Given the description of an element on the screen output the (x, y) to click on. 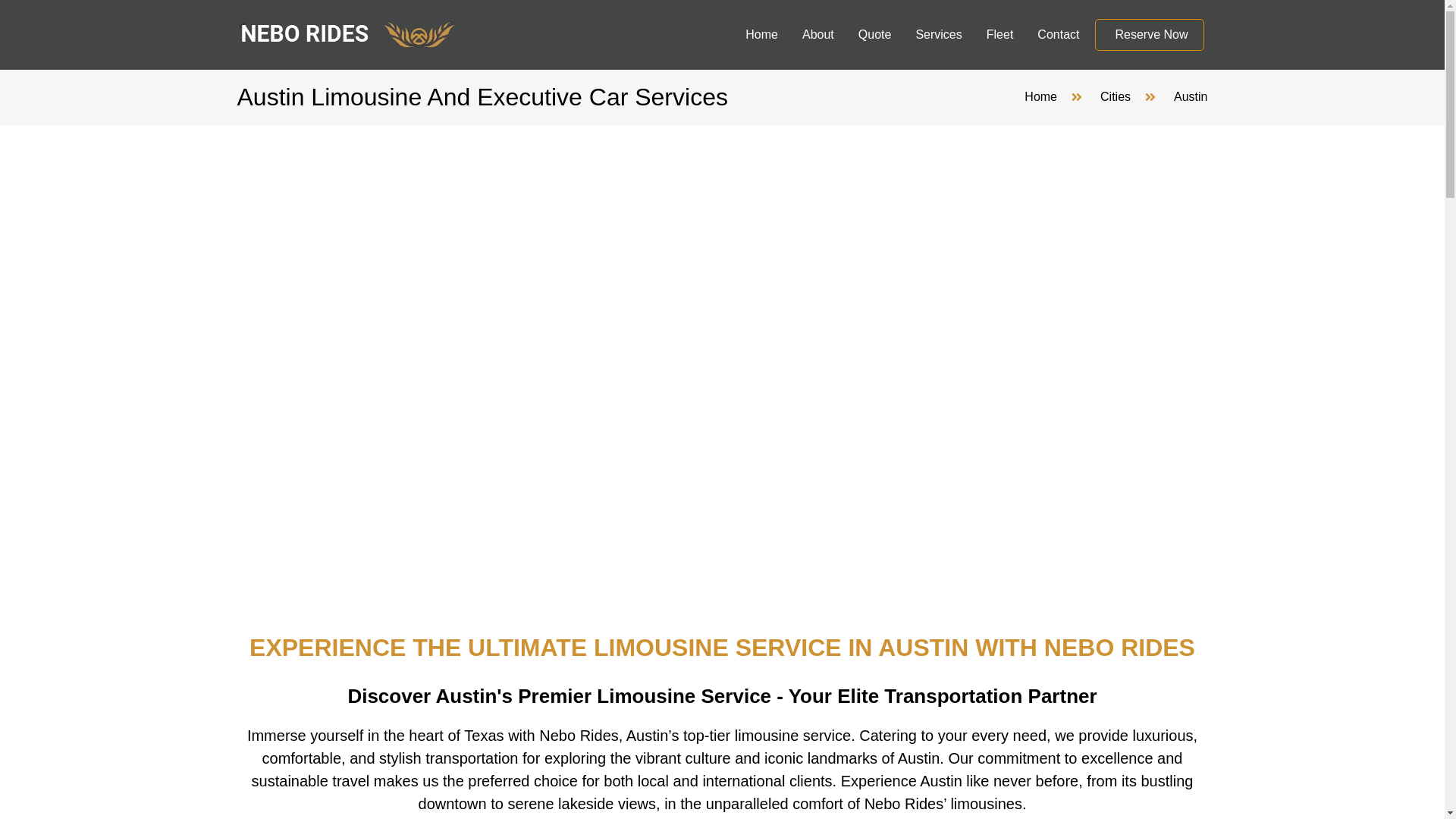
Reserve Now (1154, 34)
Contact (1058, 34)
Services (938, 34)
